Given the description of an element on the screen output the (x, y) to click on. 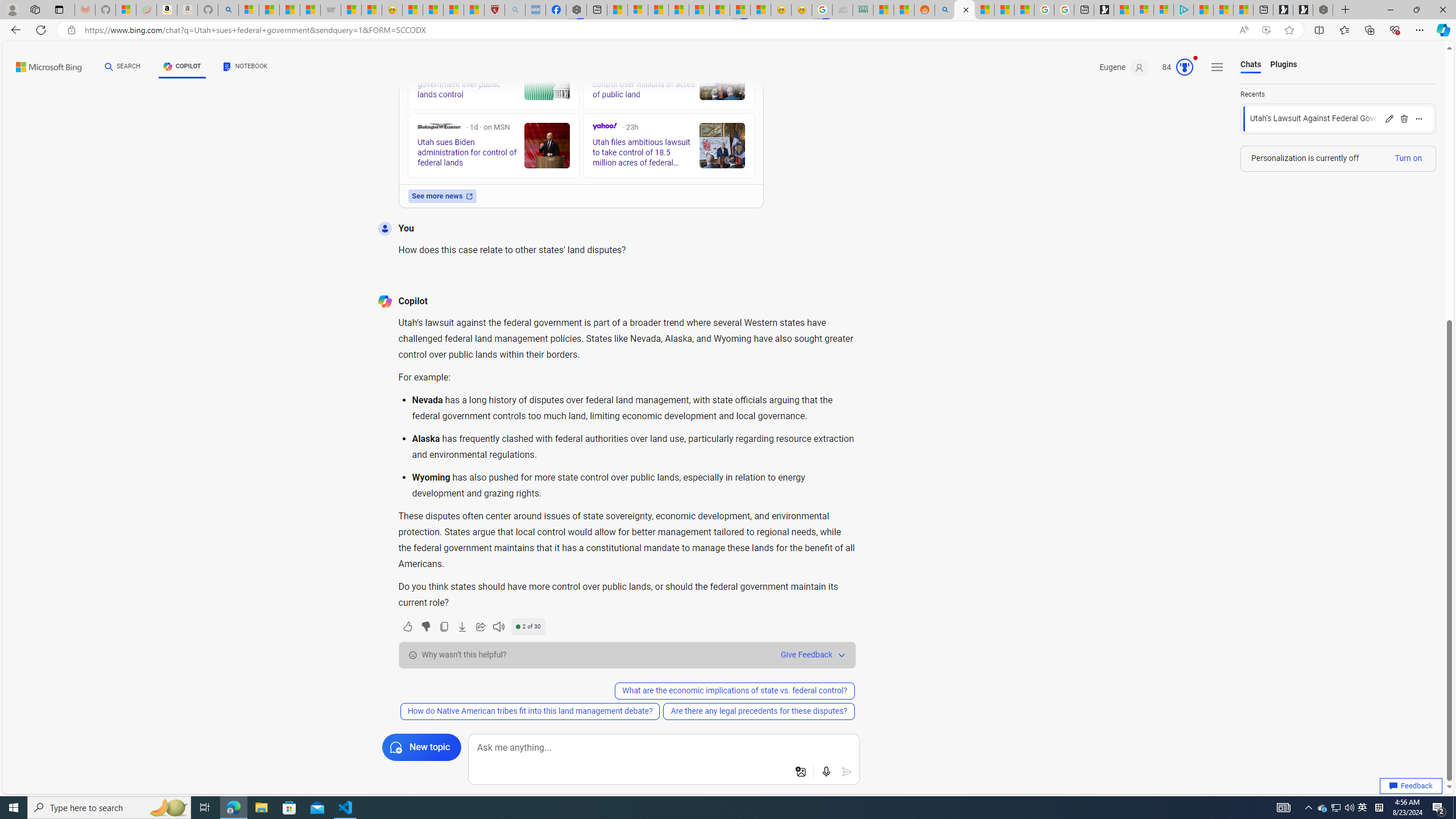
Delete (1404, 118)
SEARCH (122, 66)
NOTEBOOK (245, 68)
COPILOT (181, 68)
Share (479, 626)
Turn on (1407, 157)
